Given the description of an element on the screen output the (x, y) to click on. 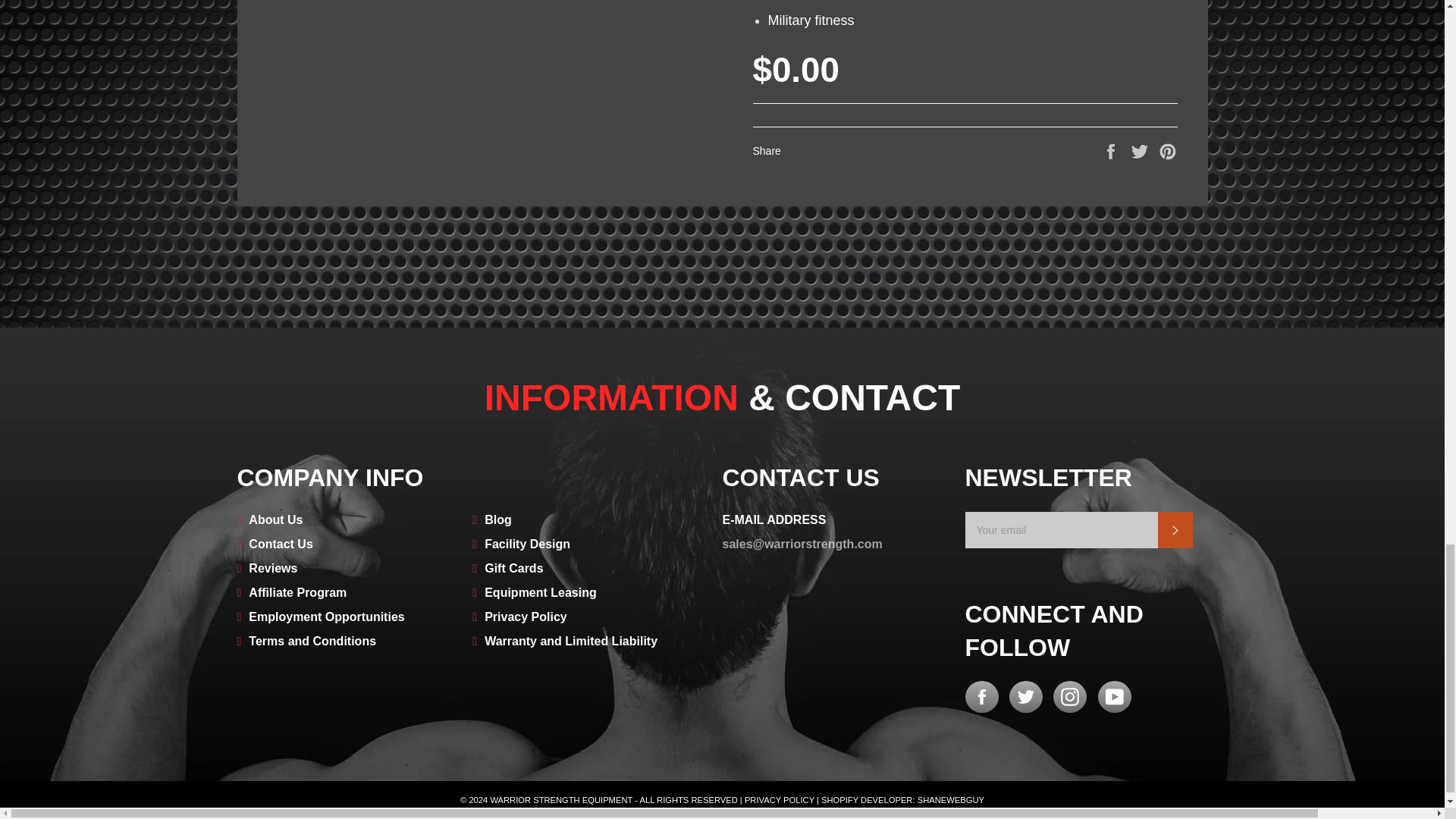
Tweet on Twitter (1141, 150)
Warrior Strength Equipment on YouTube (1114, 696)
Warrior Strength Equipment on Instagram (1069, 696)
Warrior Strength Equipment on Facebook (980, 696)
Warrior Strength Equipment on Twitter (1025, 696)
Share on Facebook (1112, 150)
Pin on Pinterest (1167, 150)
